Given the description of an element on the screen output the (x, y) to click on. 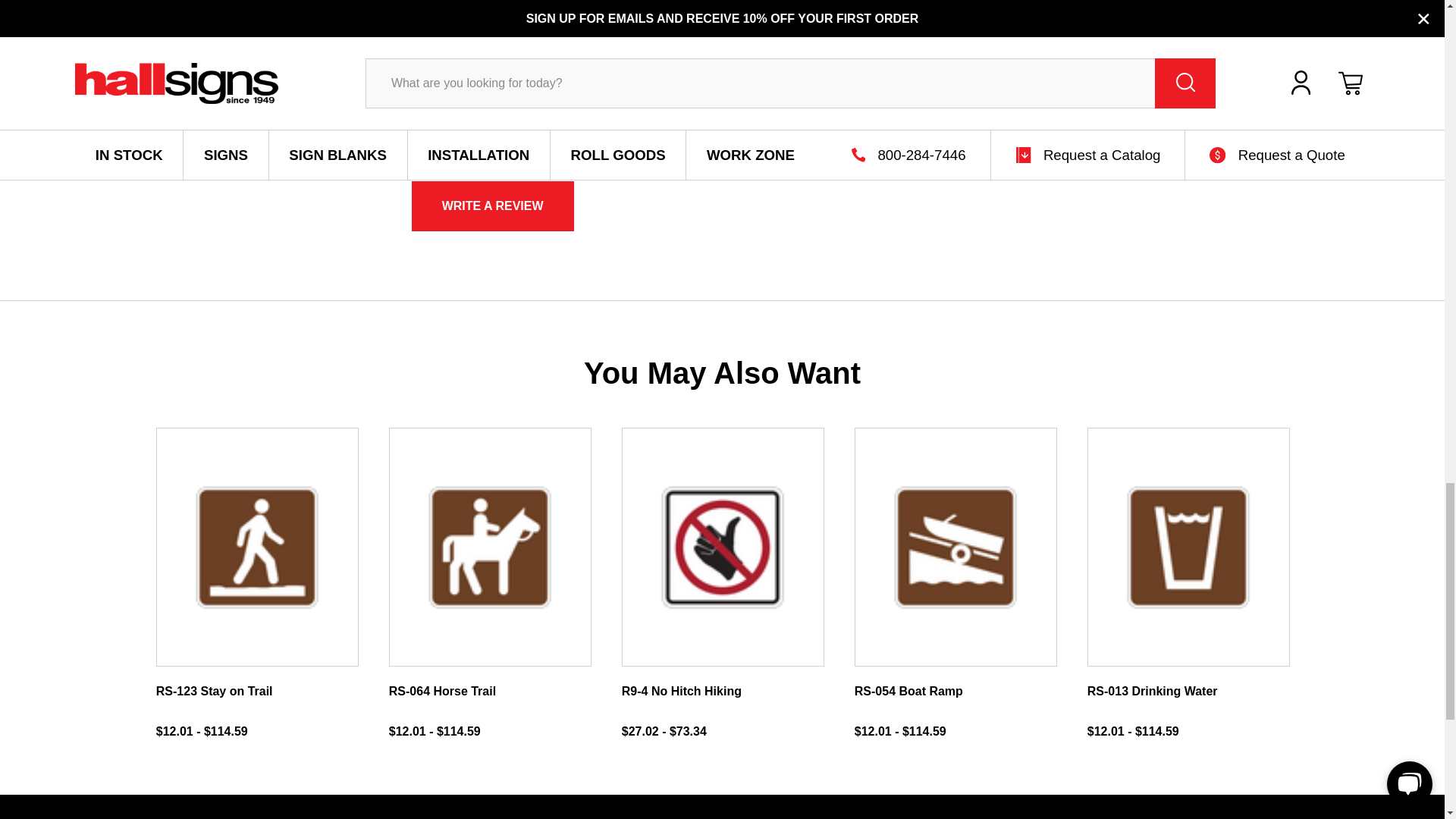
RS-064 Horse Trail (489, 547)
RS-013 Drinking Water (1188, 547)
R9-4 No Hitch Hiking (722, 547)
RS-054 Boat Ramp (955, 547)
RS-123 Stay on Trail (256, 547)
